Given the description of an element on the screen output the (x, y) to click on. 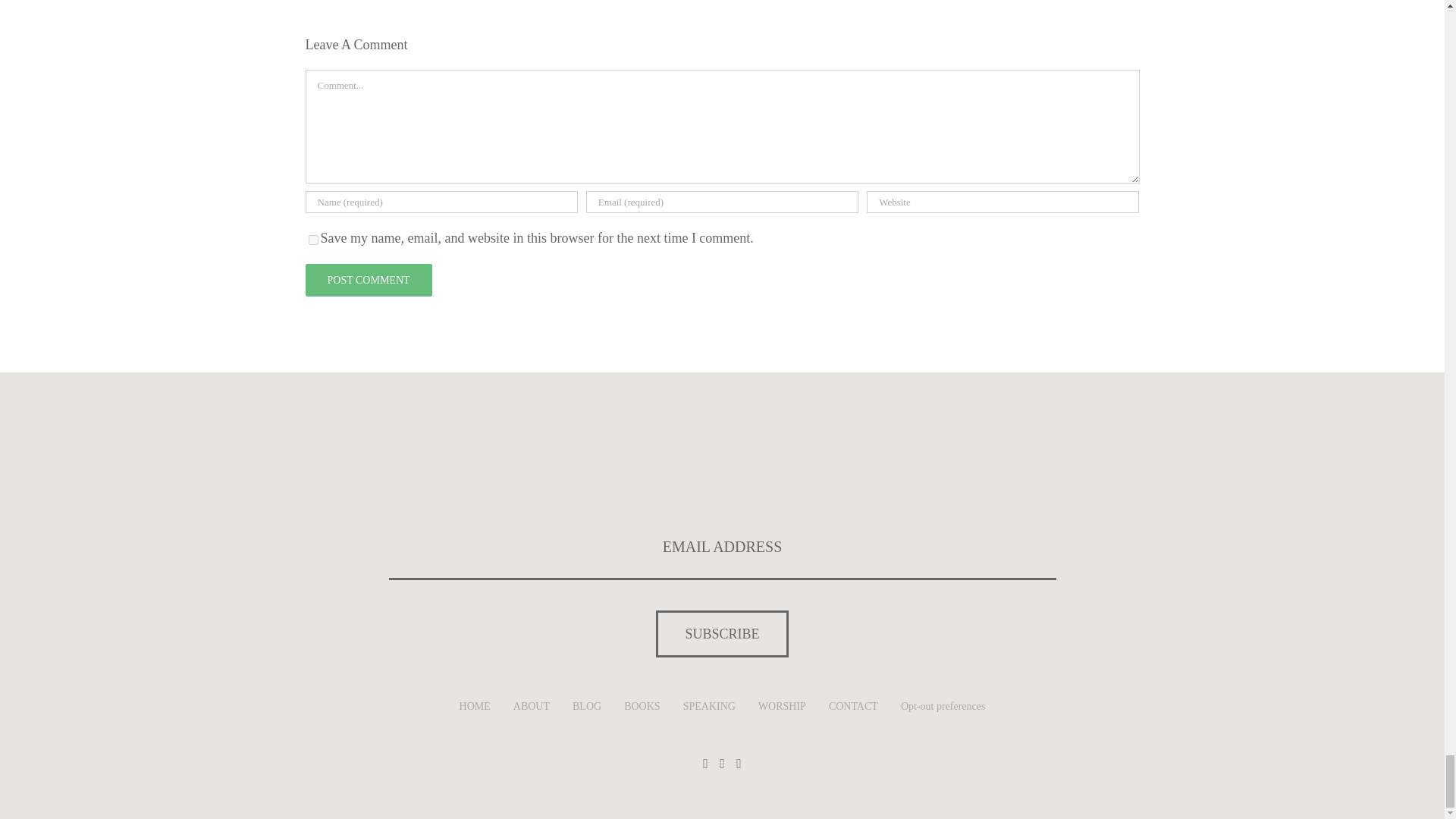
yes (312, 239)
EMAIL ADDRESS (721, 547)
Post Comment (367, 279)
Subscribe (722, 633)
